Given the description of an element on the screen output the (x, y) to click on. 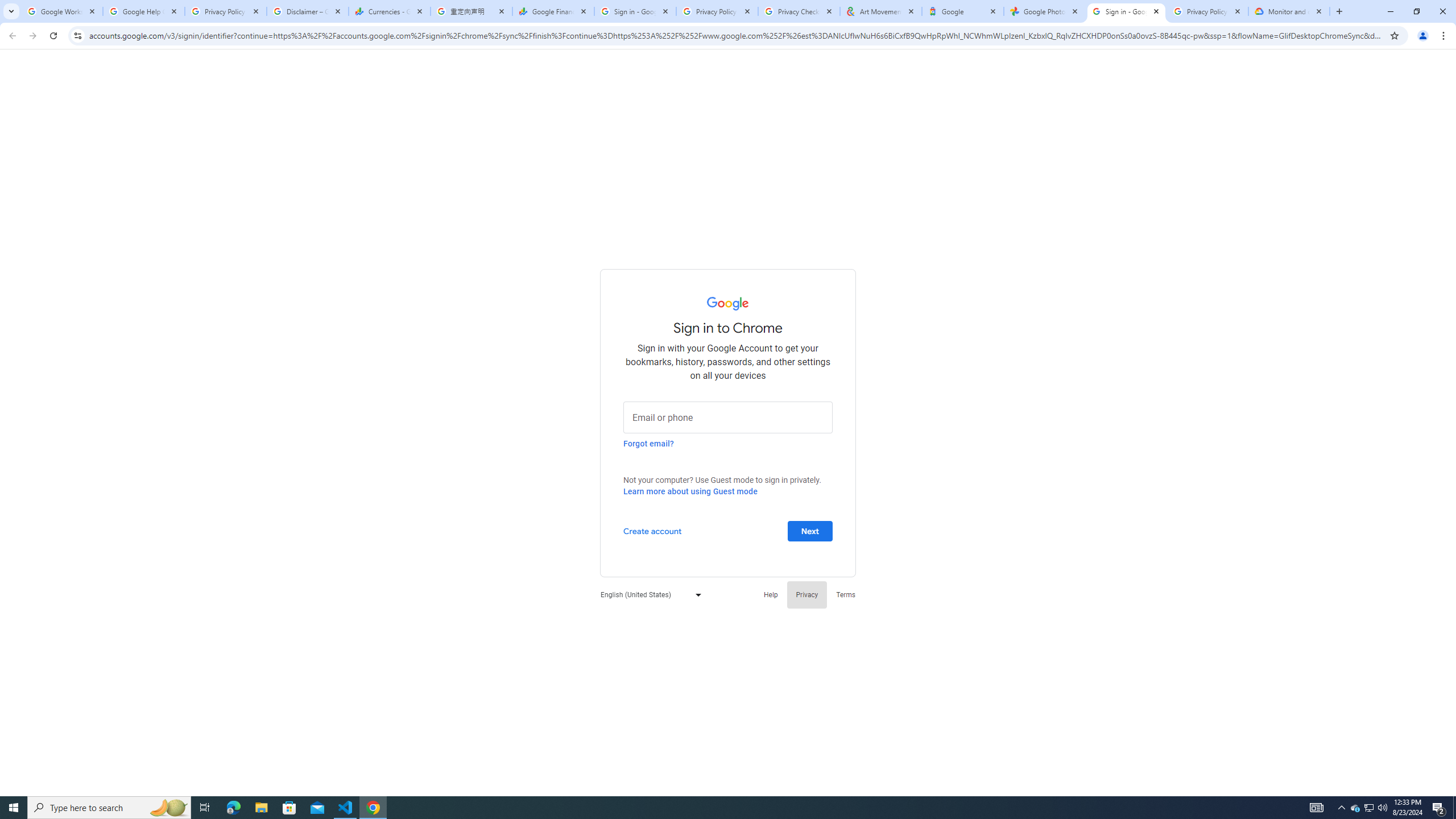
Create account (651, 530)
Sign in - Google Accounts (1126, 11)
Currencies - Google Finance (389, 11)
Next (809, 530)
